Given the description of an element on the screen output the (x, y) to click on. 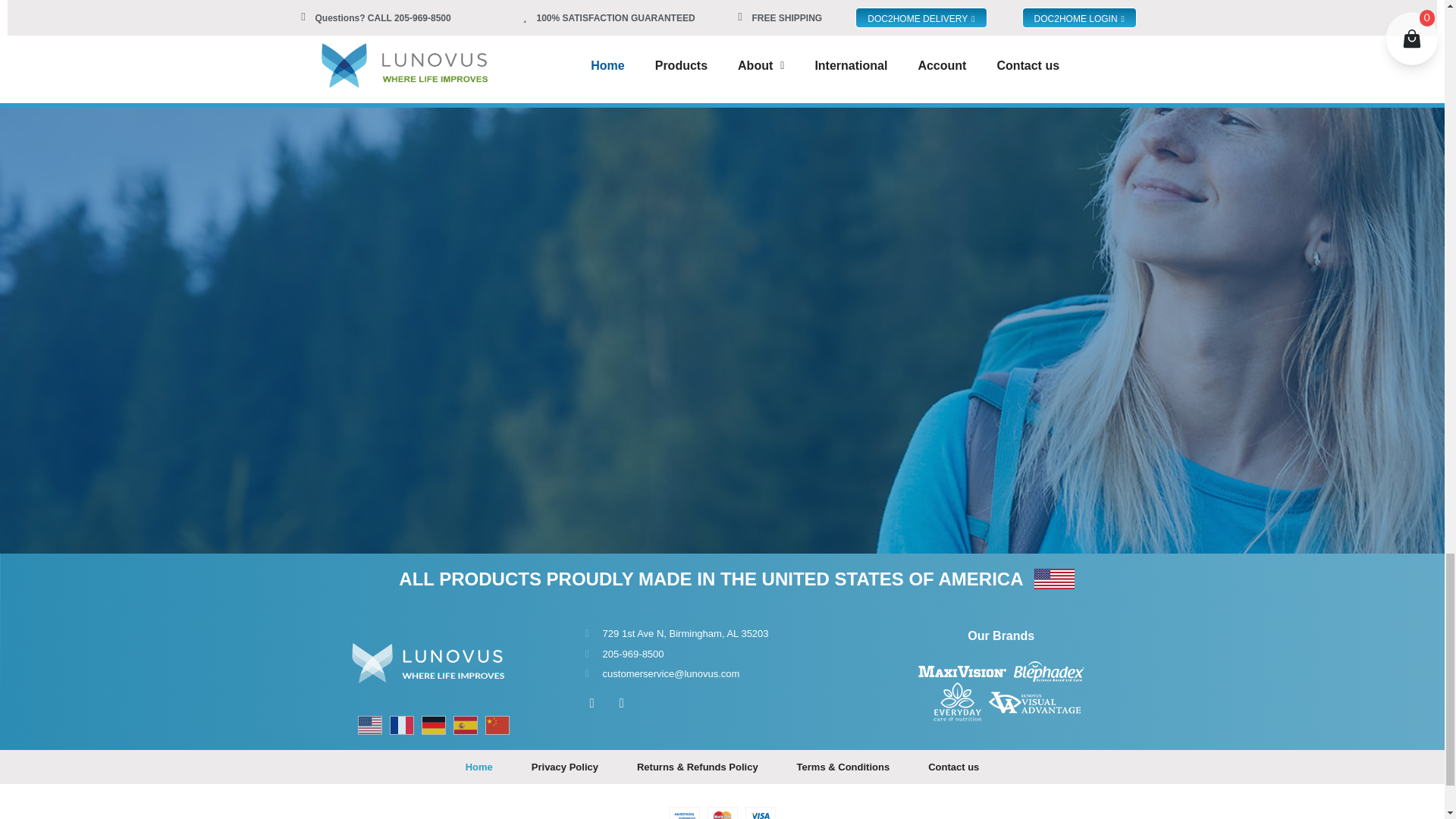
Deutsch (437, 724)
Privacy Policy (564, 766)
Contact us (953, 766)
Home (478, 766)
English (374, 724)
205-969-8500 (719, 654)
